Given the description of an element on the screen output the (x, y) to click on. 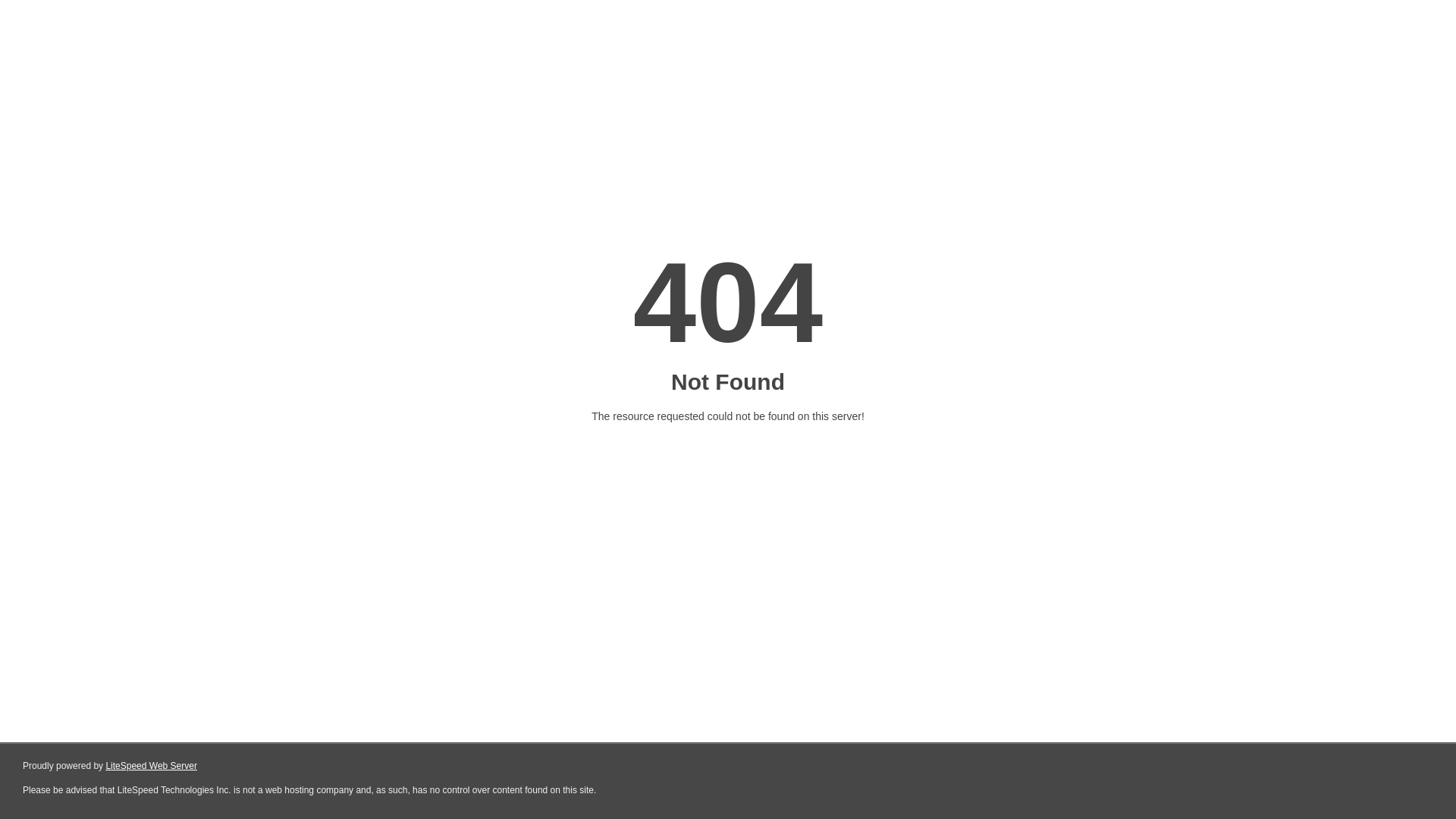
LiteSpeed Web Server Element type: text (151, 765)
